Given the description of an element on the screen output the (x, y) to click on. 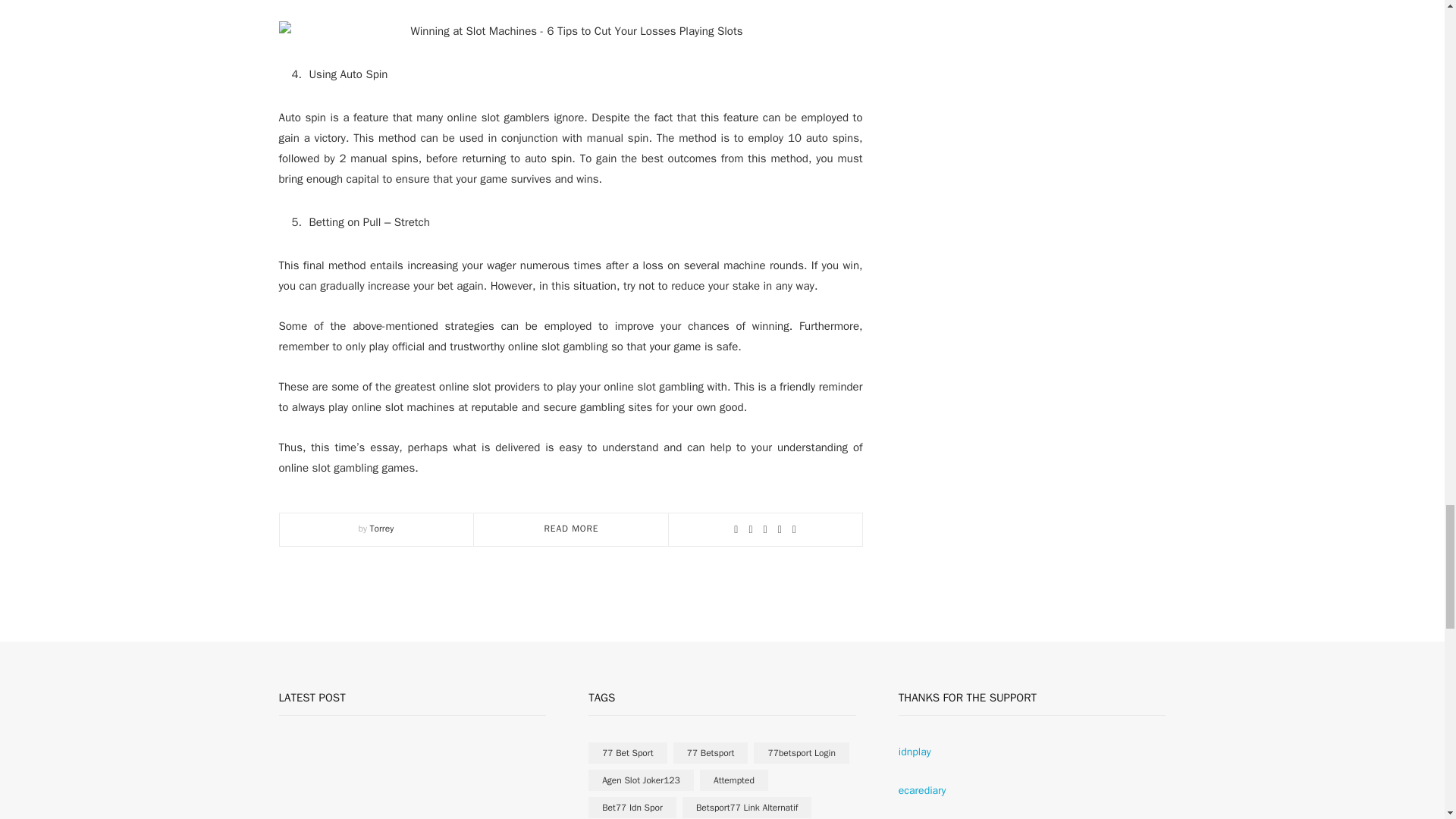
Torrey (381, 528)
READ MORE (571, 528)
Posts by Torrey (381, 528)
